Given the description of an element on the screen output the (x, y) to click on. 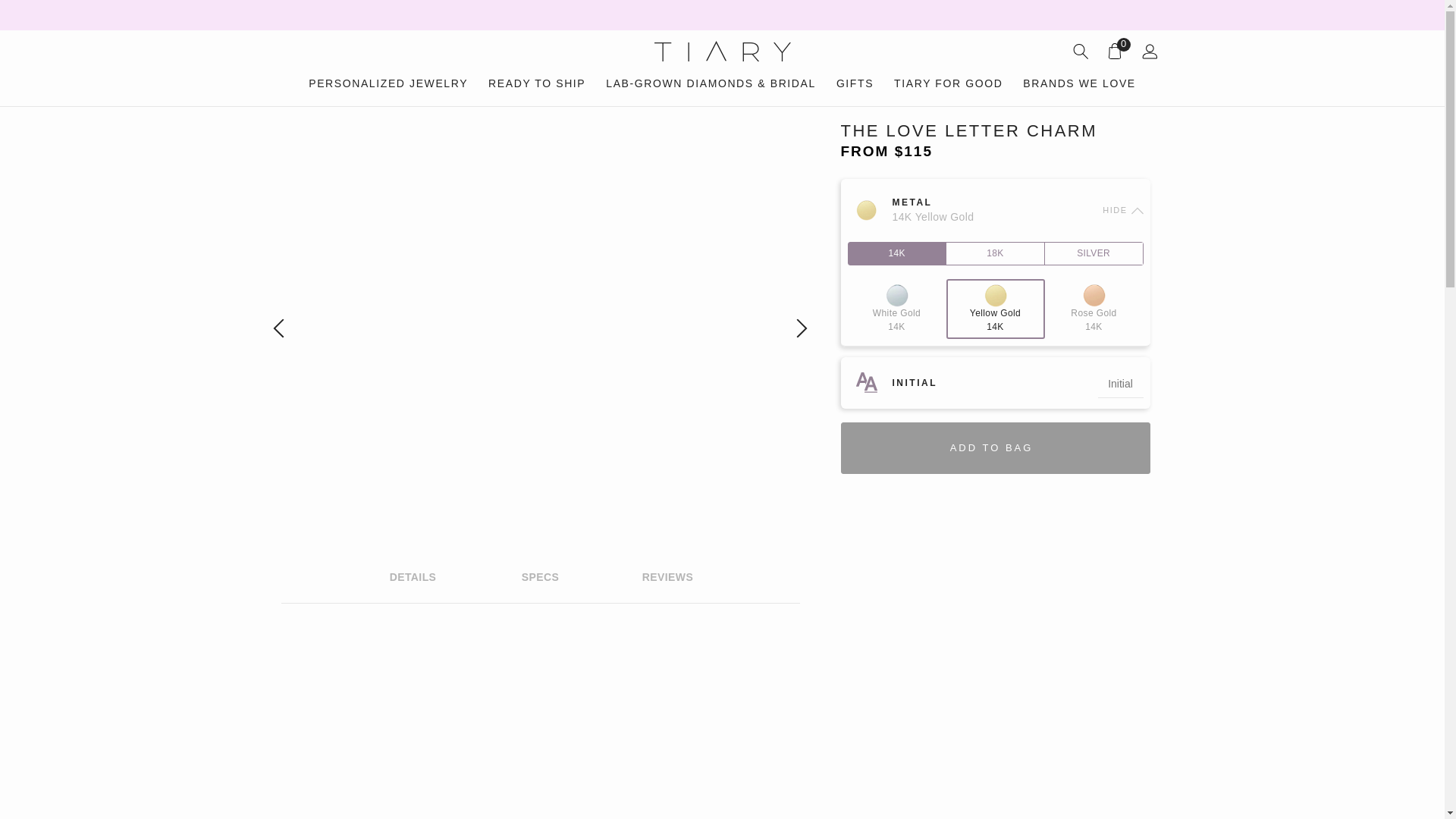
READY TO SHIP (536, 83)
PERSONALIZED JEWELRY (387, 83)
BRANDS WE LOVE (1079, 83)
SPECS (539, 577)
search (1079, 51)
GIFTS (854, 83)
DETAILS (413, 577)
REVIEWS (668, 577)
TIARY FOR GOOD (948, 83)
